Given the description of an element on the screen output the (x, y) to click on. 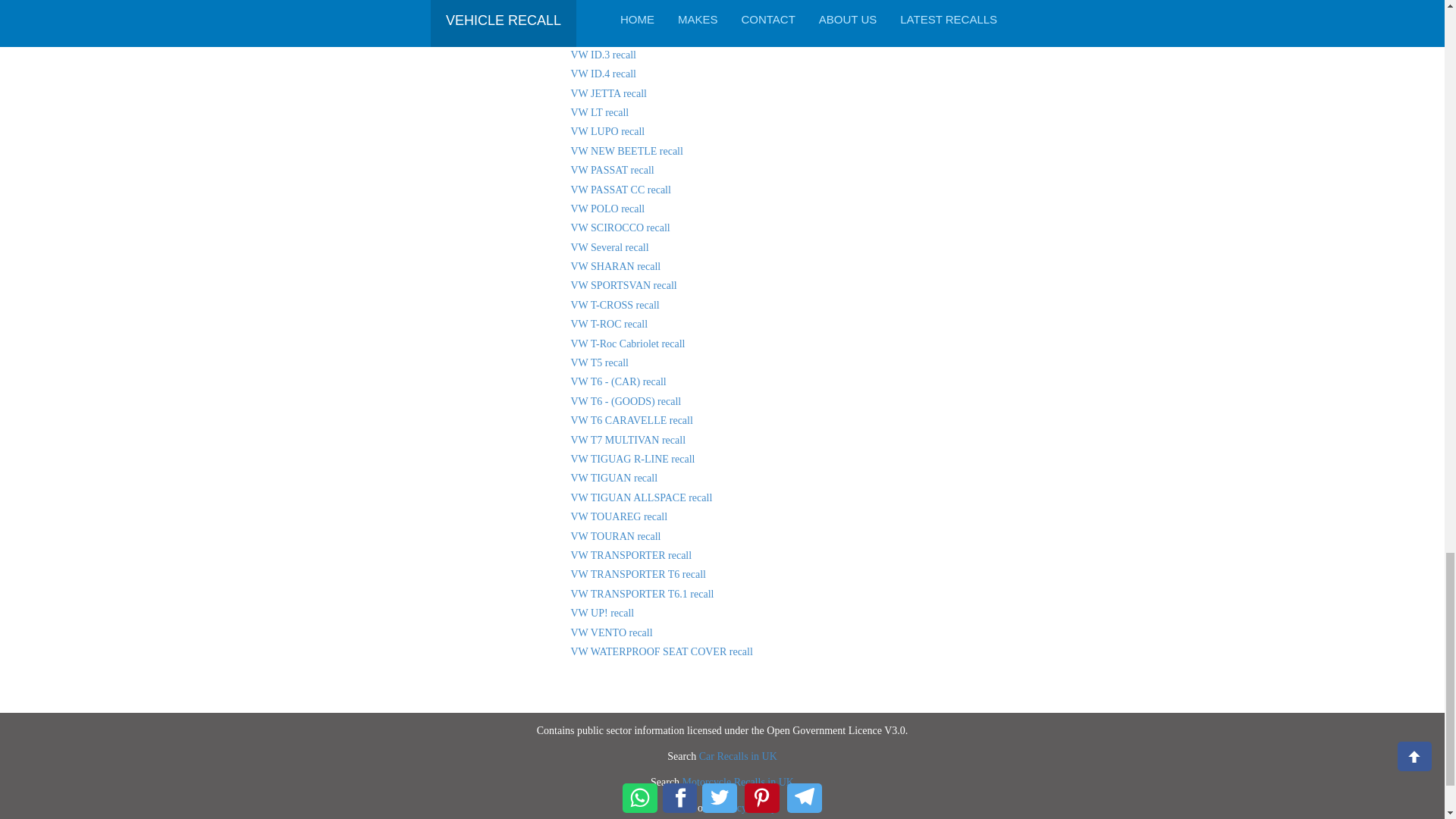
VW GOLF ESTATE recall (627, 1)
VW GRAND CALIFORNIA recall (645, 34)
VW ID.4 recall (602, 73)
VW GOLF SV recall (615, 16)
VW ID.3 recall (602, 54)
